Given the description of an element on the screen output the (x, y) to click on. 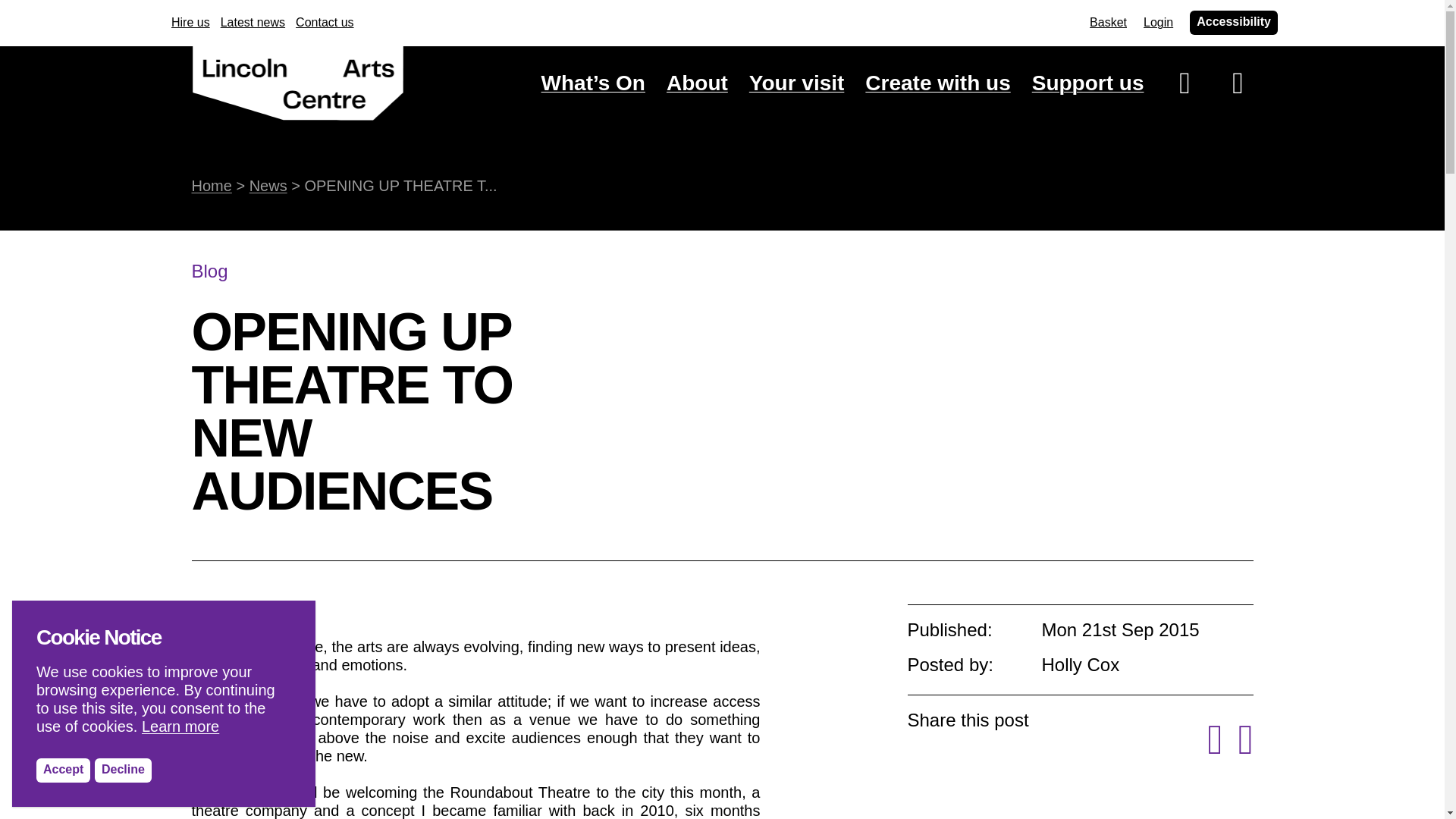
Hire us (190, 22)
Latest news (253, 22)
Contact us (324, 22)
Support us (1088, 83)
About (697, 83)
Search (1169, 264)
Accessibility (1233, 22)
Your visit (796, 83)
Login (1157, 22)
Create with us (937, 83)
Basket (1107, 22)
